Given the description of an element on the screen output the (x, y) to click on. 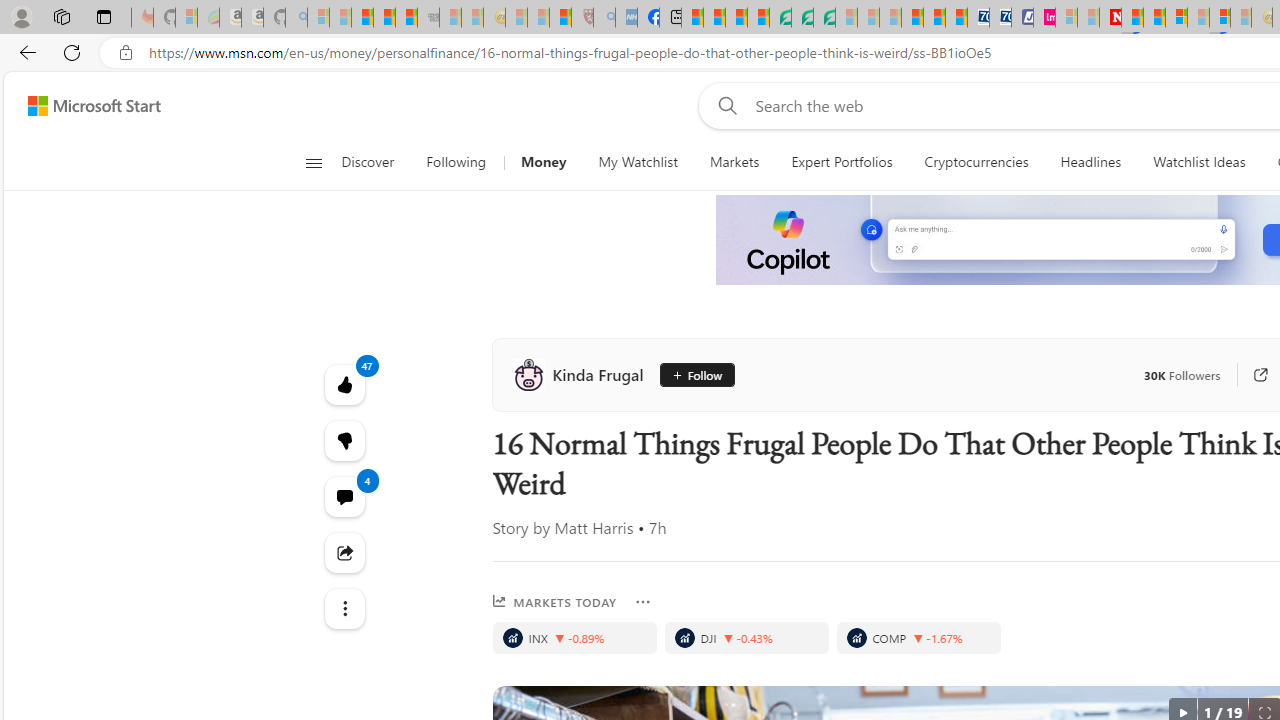
INX, S&P 500. Price is 5,570.64. Decreased by -0.89% (573, 637)
Class: at-item (343, 609)
47 Like (343, 384)
47 (343, 440)
Jobs - lastminute.com Investor Portal (1044, 17)
